Given the description of an element on the screen output the (x, y) to click on. 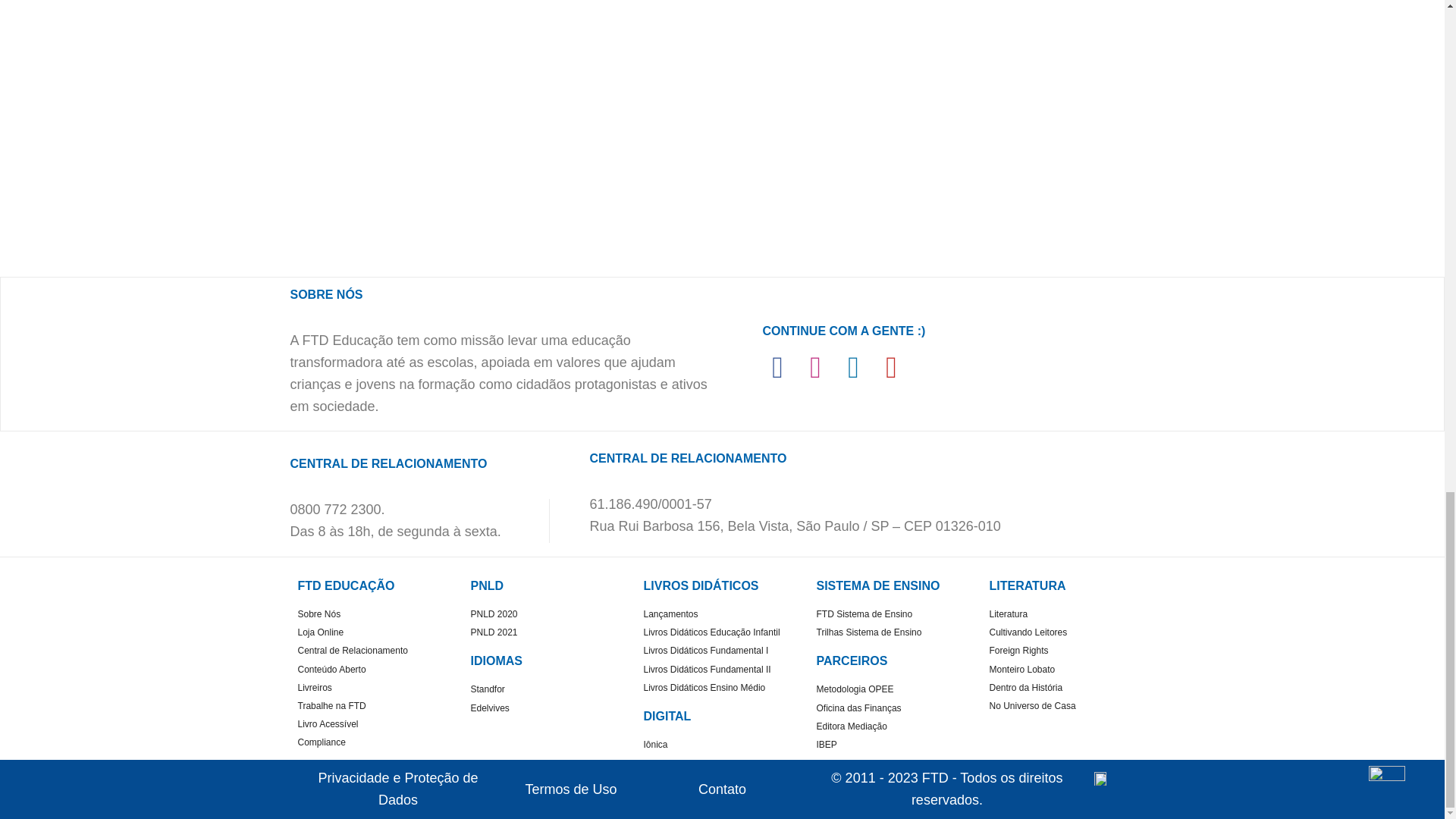
Standfor (548, 689)
Compliance (375, 742)
Edelvives (548, 708)
Loja Online (375, 632)
Livreiros (375, 687)
PNLD 2021 (548, 632)
PNLD 2020 (548, 614)
Central de Relacionamento (375, 650)
Trabalhe na FTD (375, 706)
